Given the description of an element on the screen output the (x, y) to click on. 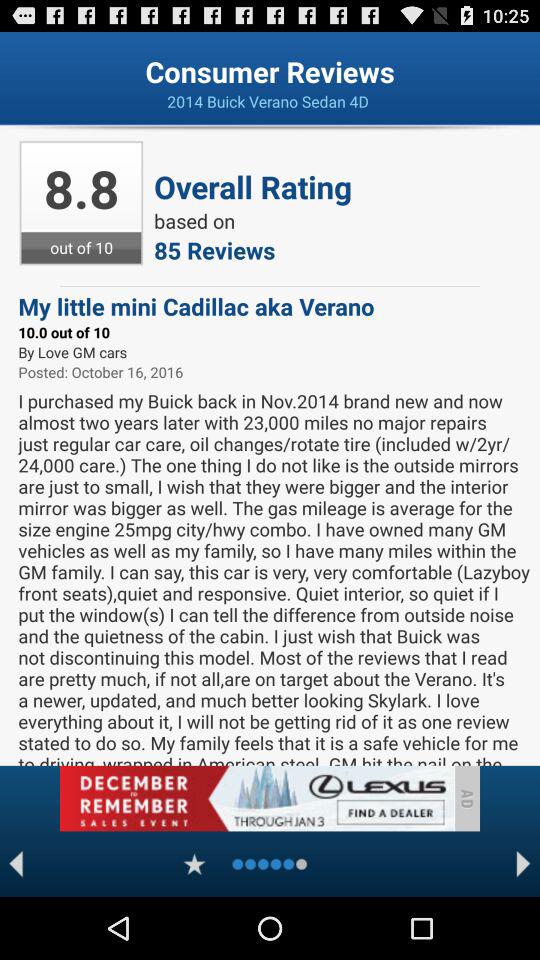
favorite (194, 864)
